Given the description of an element on the screen output the (x, y) to click on. 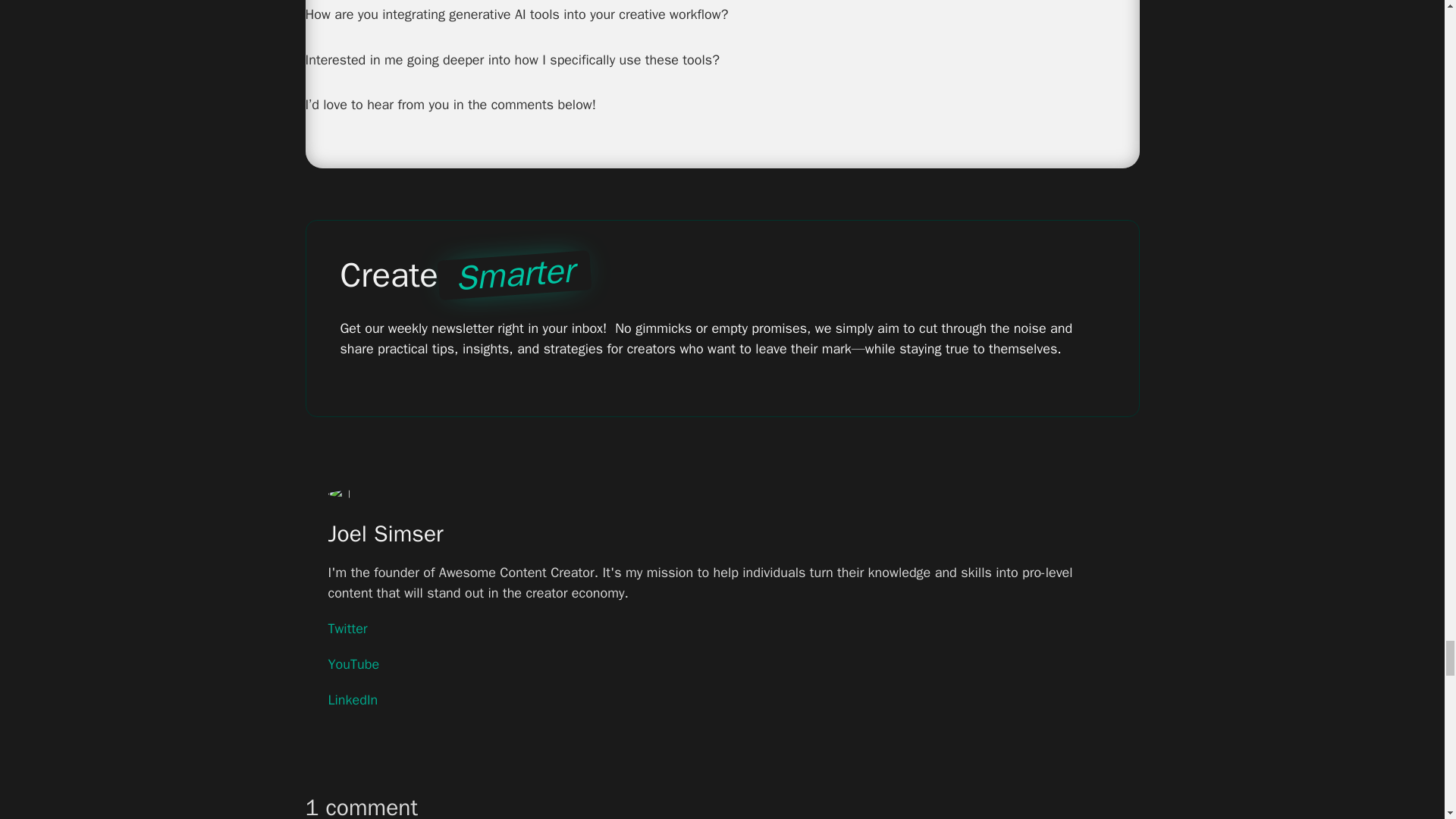
Twitter (346, 629)
YouTube (352, 664)
LinkedIn (352, 700)
